Given the description of an element on the screen output the (x, y) to click on. 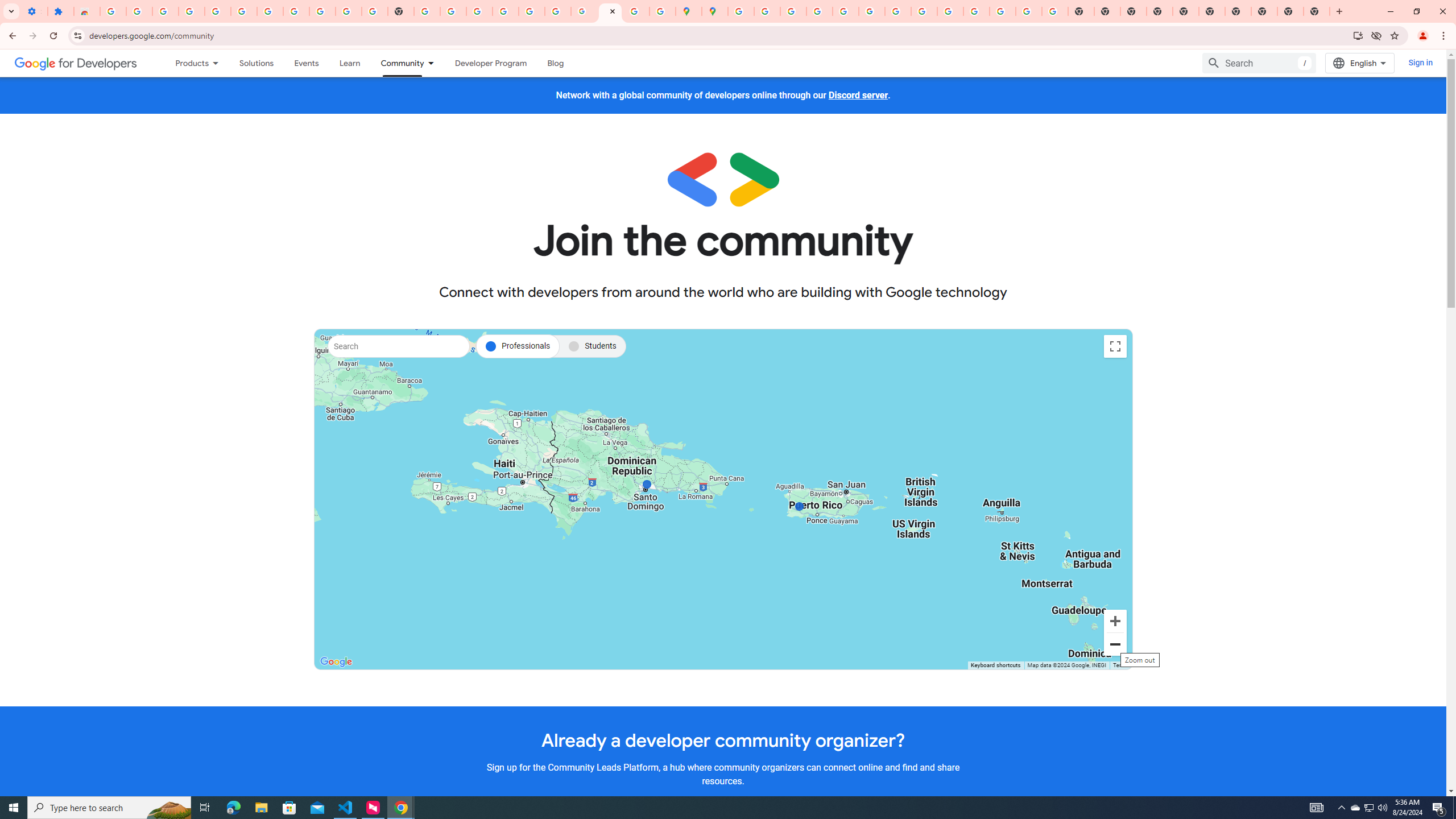
Open this area in Google Maps (opens a new window) (336, 661)
Learning Catalog (350, 62)
Back (10, 35)
Bookmark this tab (1393, 35)
Community, selected (396, 62)
Google (336, 661)
Products (186, 62)
Sign in (1420, 63)
Dropdown menu for Products (219, 62)
New Tab (1159, 11)
